Given the description of an element on the screen output the (x, y) to click on. 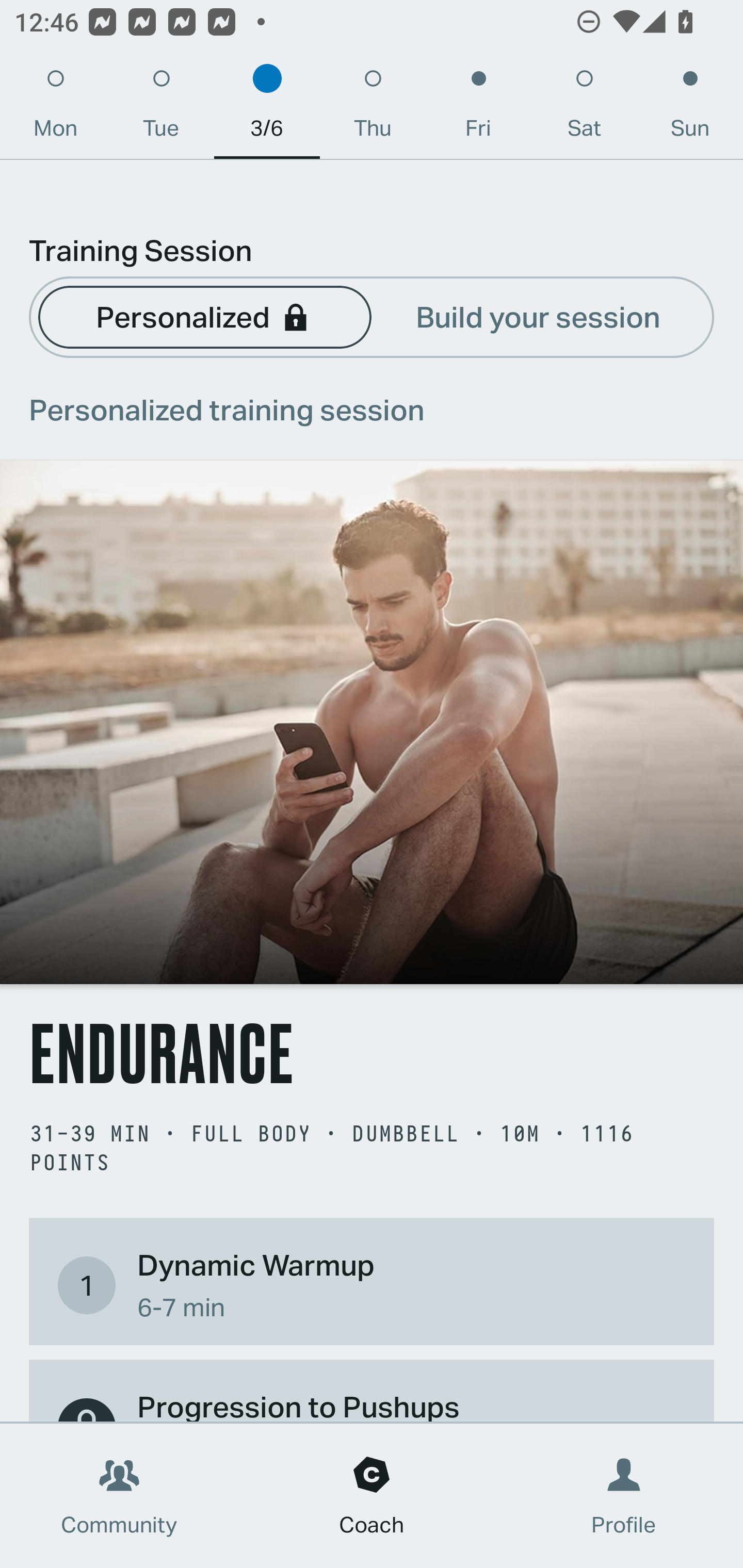
Mon (55, 108)
Tue (160, 108)
3/6 (266, 108)
Thu (372, 108)
Fri (478, 108)
Sat (584, 108)
Sun (690, 108)
Personalized (204, 315)
Build your session (538, 315)
1 Dynamic Warmup 6-7 min (371, 1284)
Community (119, 1495)
Profile (624, 1495)
